Given the description of an element on the screen output the (x, y) to click on. 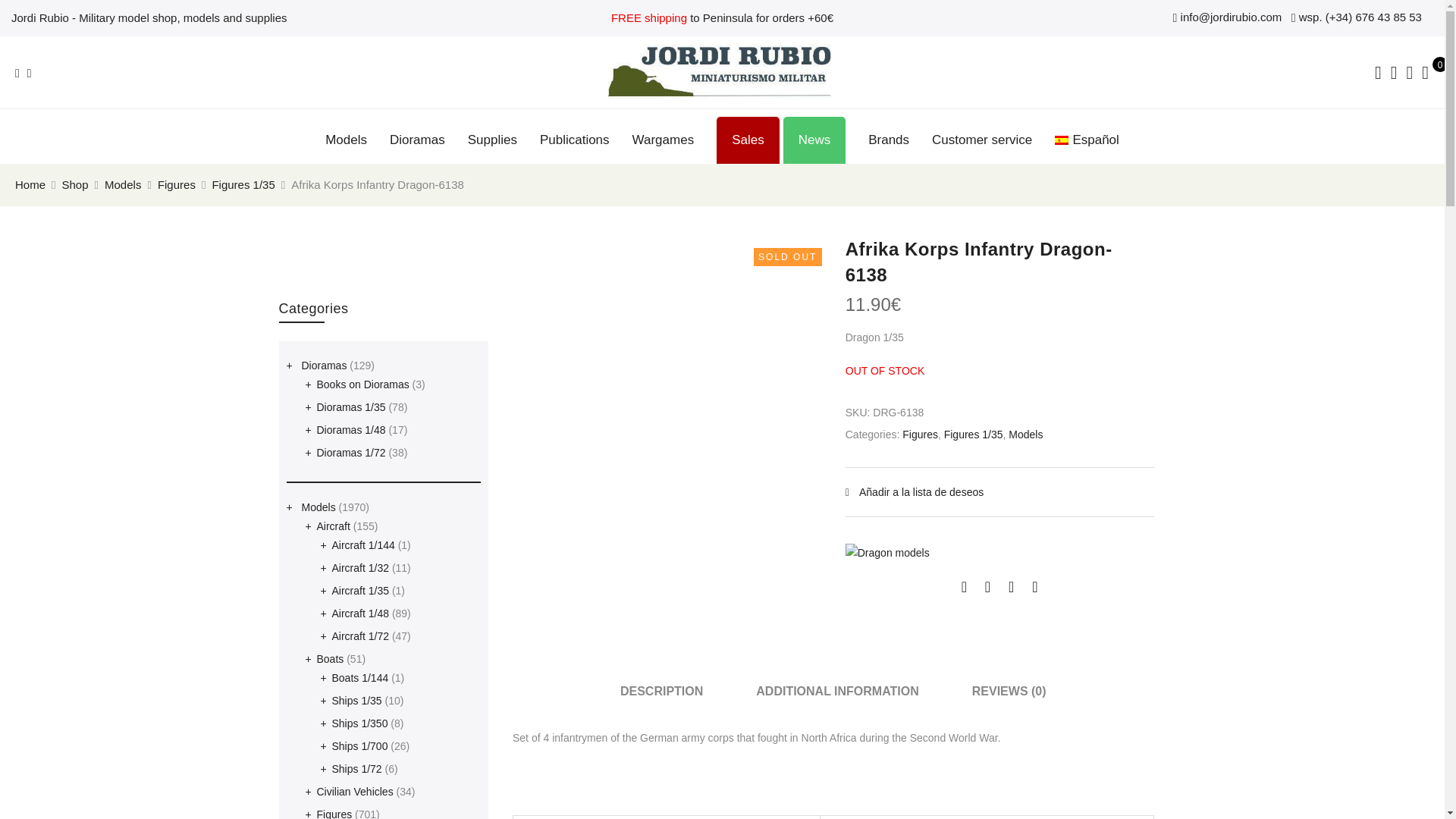
Supplies (491, 139)
Maquetas (345, 139)
Models (345, 139)
Dioramas (417, 139)
